Given the description of an element on the screen output the (x, y) to click on. 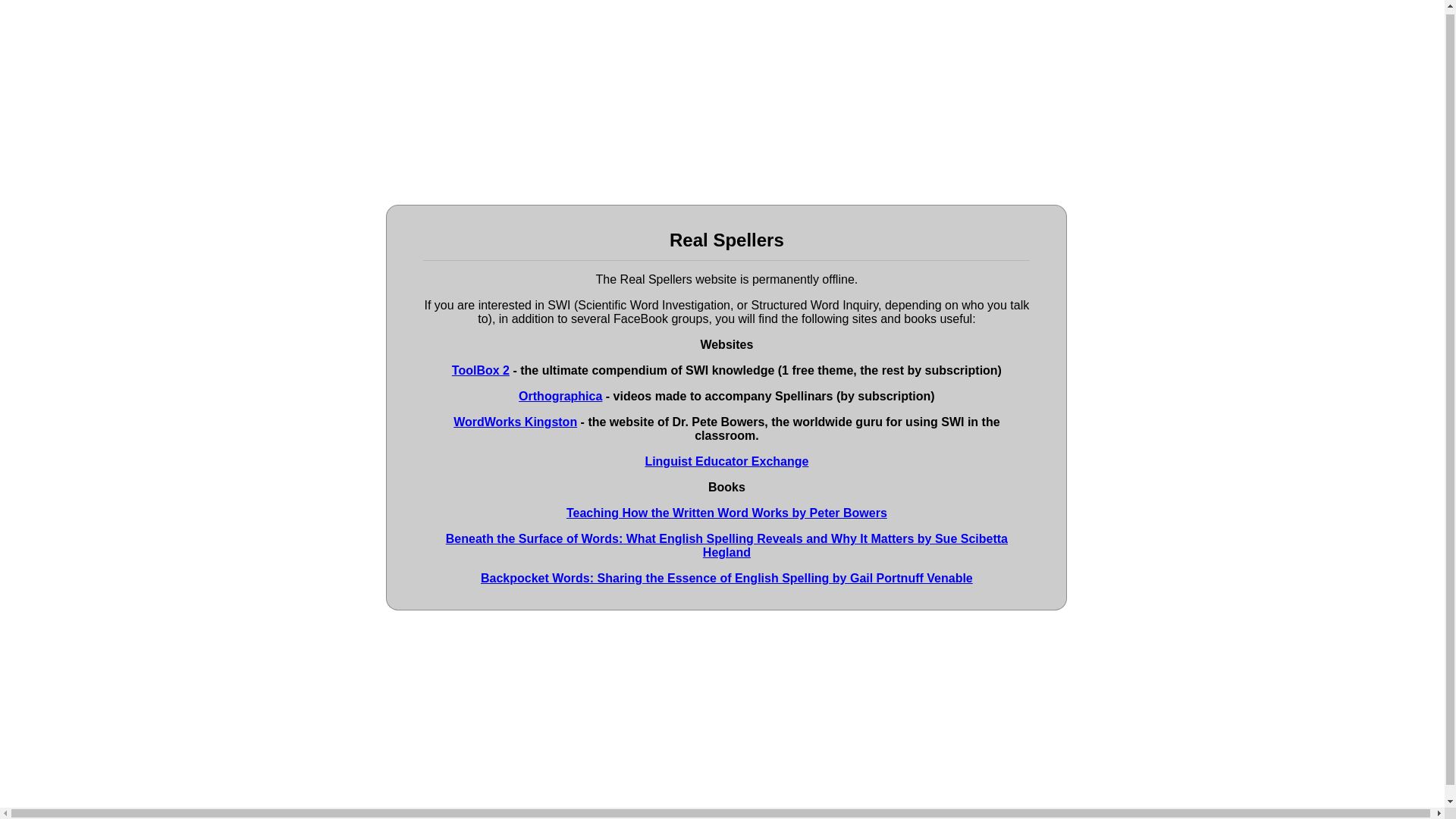
Linguist Educator Exchange (726, 461)
Orthographica (560, 395)
WordWorks Kingston (514, 421)
Teaching How the Written Word Works by Peter Bowers (726, 512)
ToolBox 2 (480, 369)
